Given the description of an element on the screen output the (x, y) to click on. 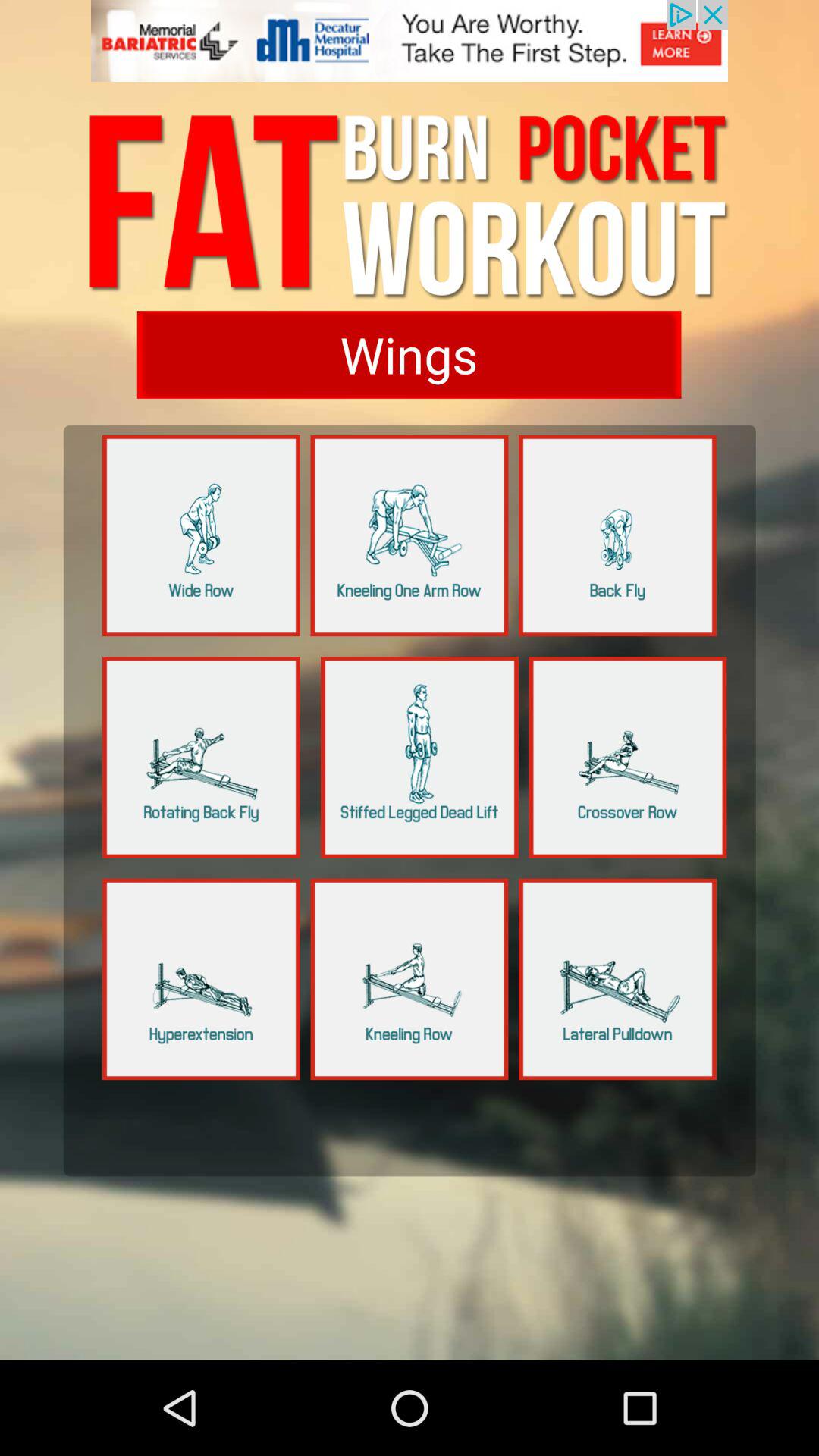
lateral pulldown option (617, 979)
